Given the description of an element on the screen output the (x, y) to click on. 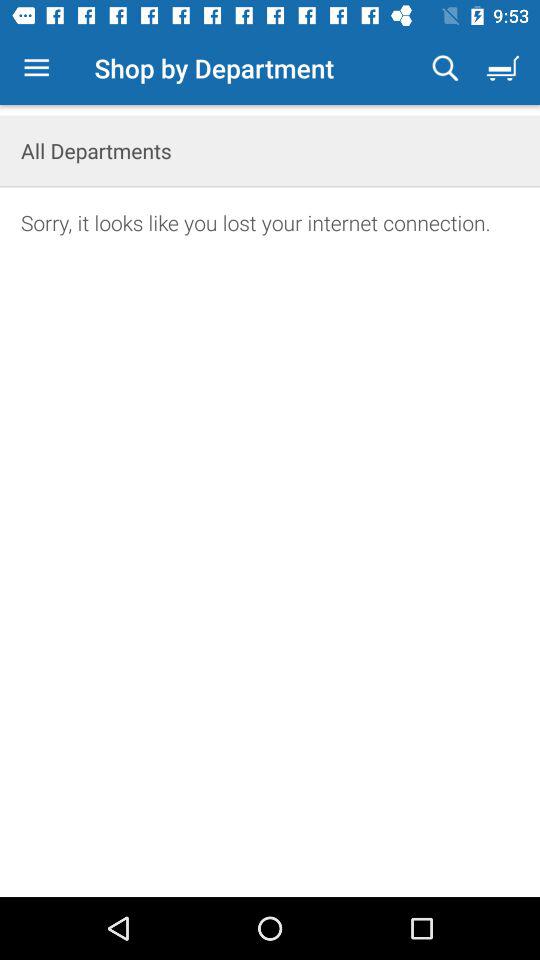
launch item to the right of the shop by department icon (445, 68)
